Given the description of an element on the screen output the (x, y) to click on. 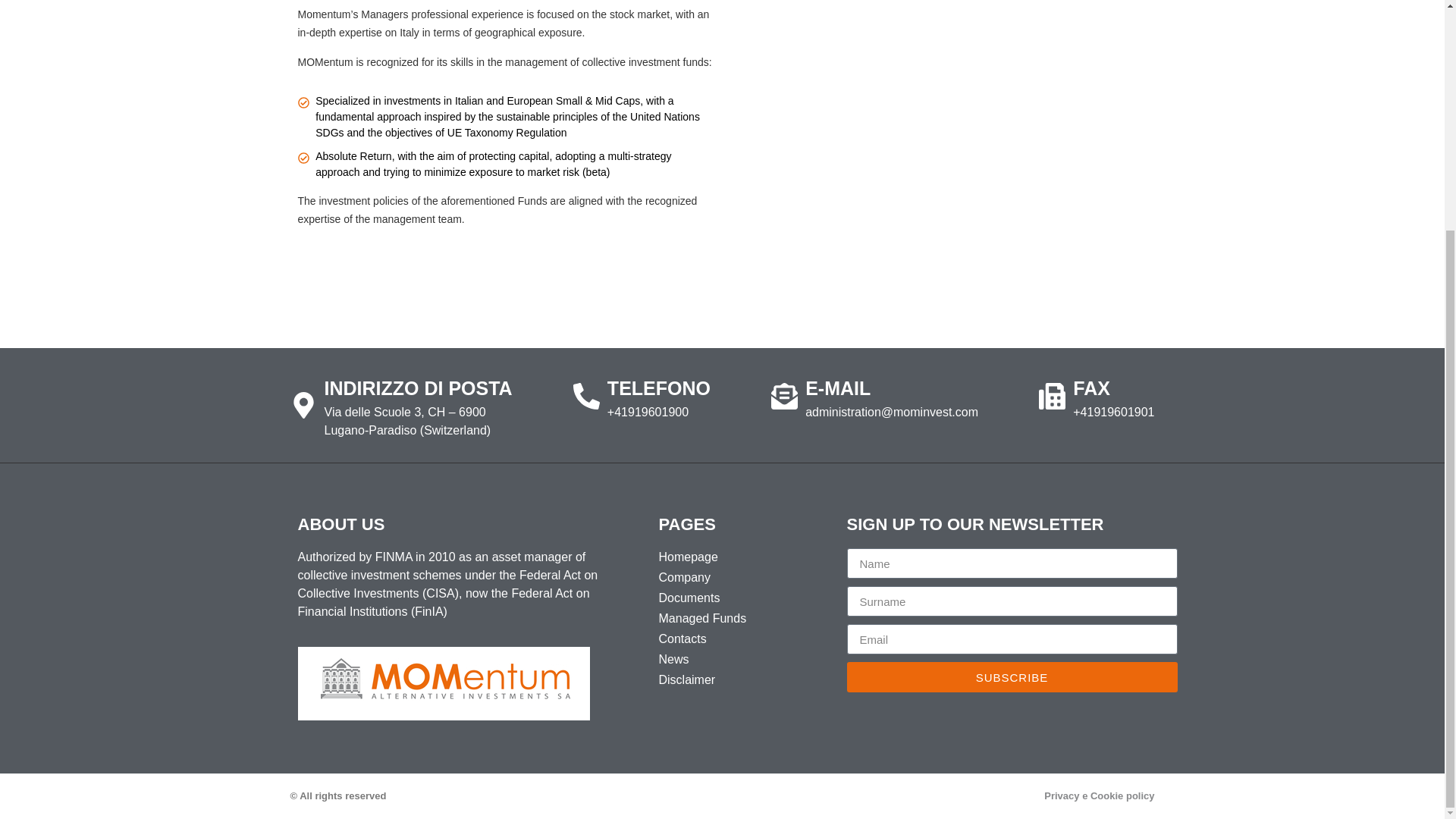
TELEFONO (658, 387)
Company (736, 577)
INDIRIZZO DI POSTA (418, 387)
E-MAIL (837, 387)
Homepage (736, 556)
Contacts (736, 638)
News (736, 659)
Disclaimer (736, 679)
Documents (736, 597)
Managed Funds (736, 618)
SUBSCRIBE (1010, 676)
FAX (1091, 387)
